Given the description of an element on the screen output the (x, y) to click on. 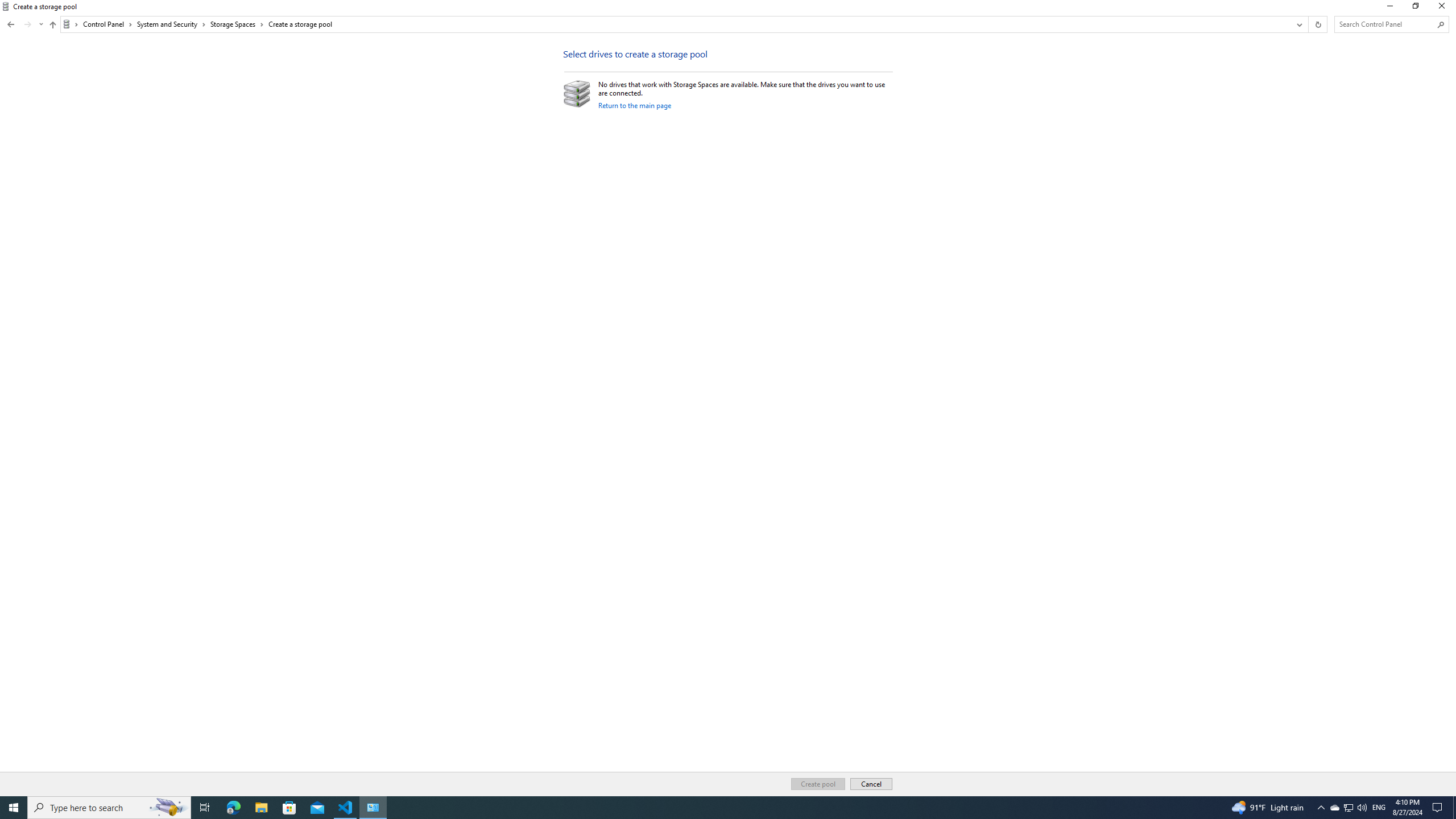
Recent locations (40, 23)
System (6, 6)
System (6, 6)
System and Security (171, 23)
Restore (1415, 8)
